Given the description of an element on the screen output the (x, y) to click on. 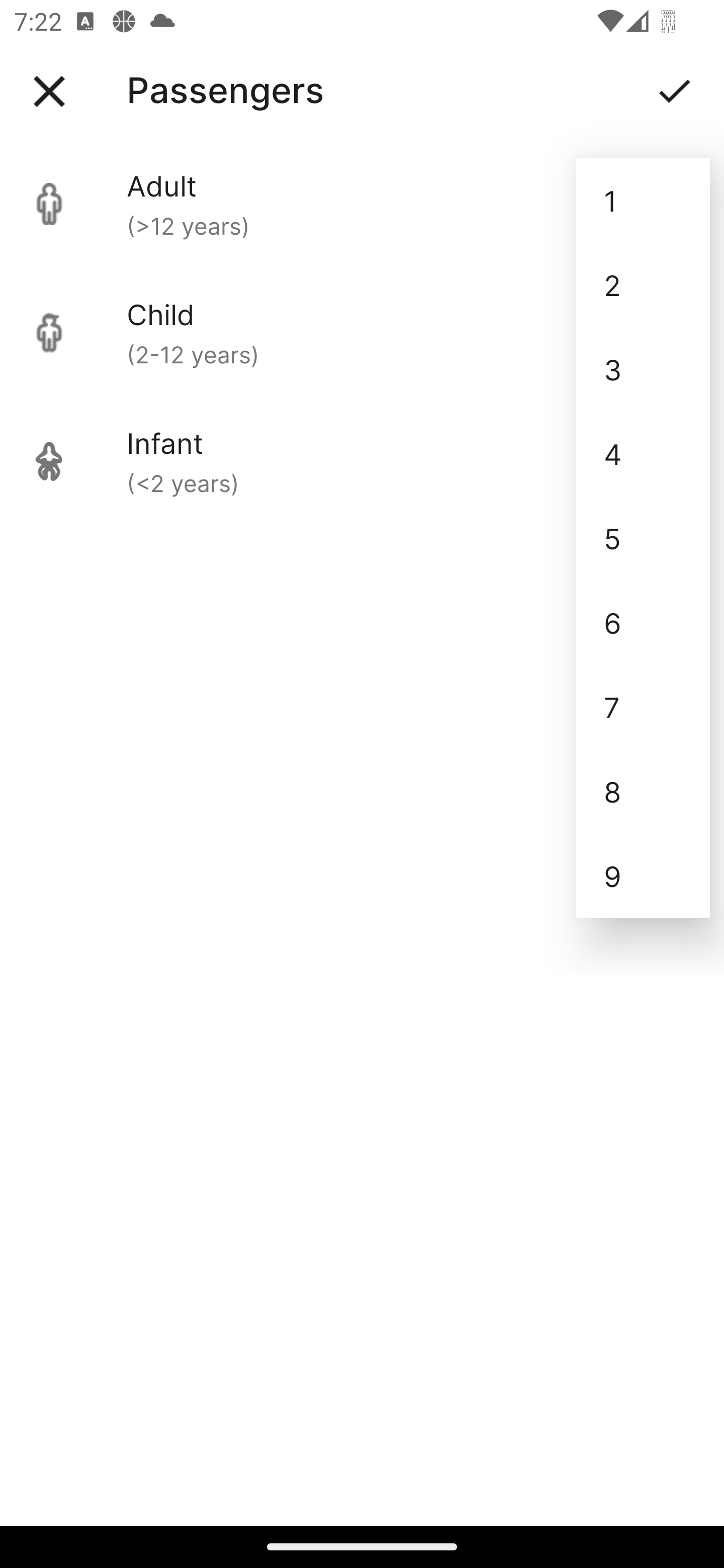
1 (642, 200)
2 (642, 285)
3 (642, 368)
4 (642, 452)
5 (642, 537)
6 (642, 622)
7 (642, 706)
8 (642, 791)
9 (642, 876)
